Given the description of an element on the screen output the (x, y) to click on. 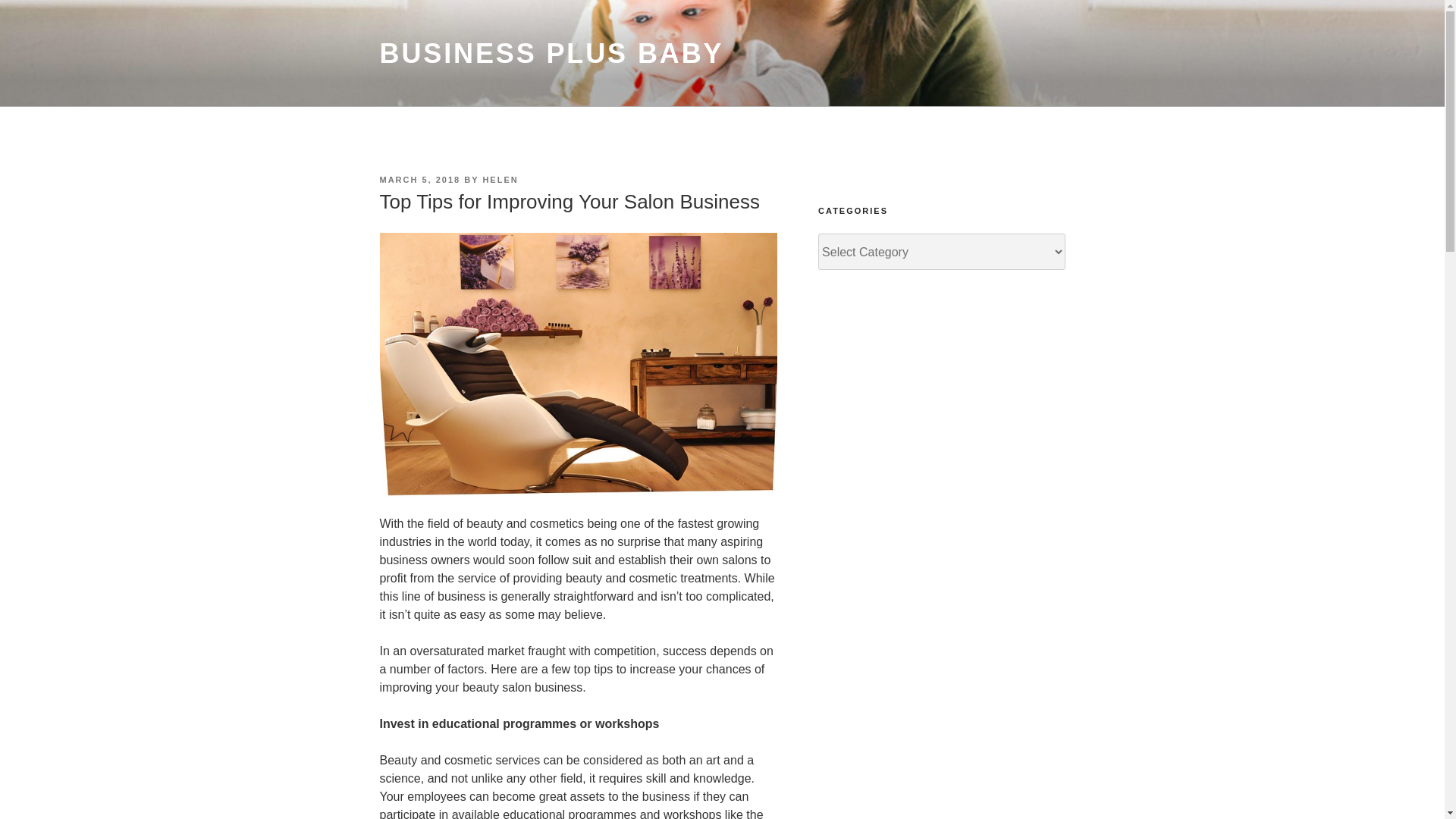
HELEN (499, 179)
MARCH 5, 2018 (419, 179)
BUSINESS PLUS BABY (550, 52)
